Given the description of an element on the screen output the (x, y) to click on. 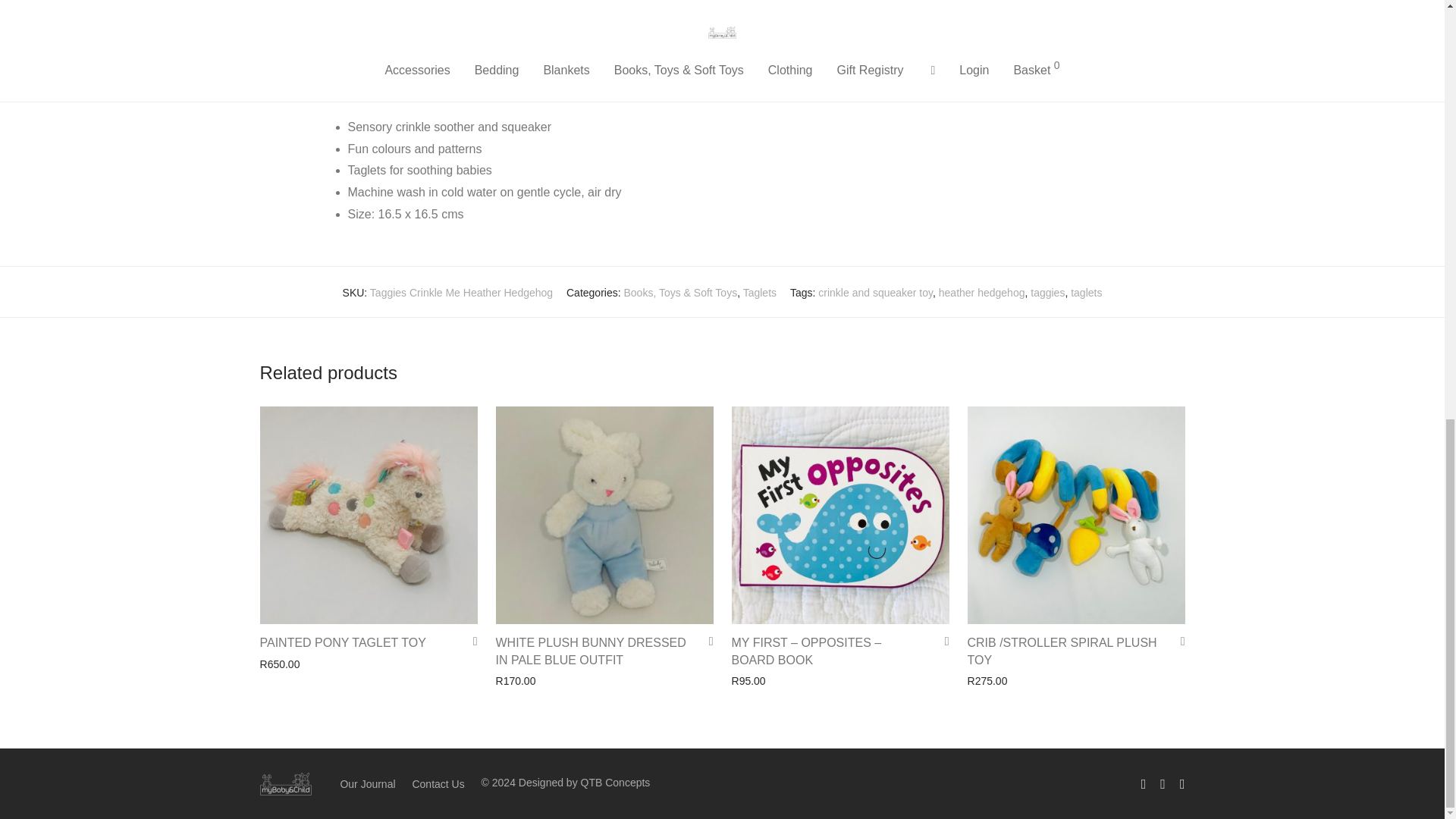
Add to Wishlist (705, 640)
Add to Wishlist (1177, 640)
Add to Wishlist (941, 640)
Add to Wishlist (470, 640)
